Given the description of an element on the screen output the (x, y) to click on. 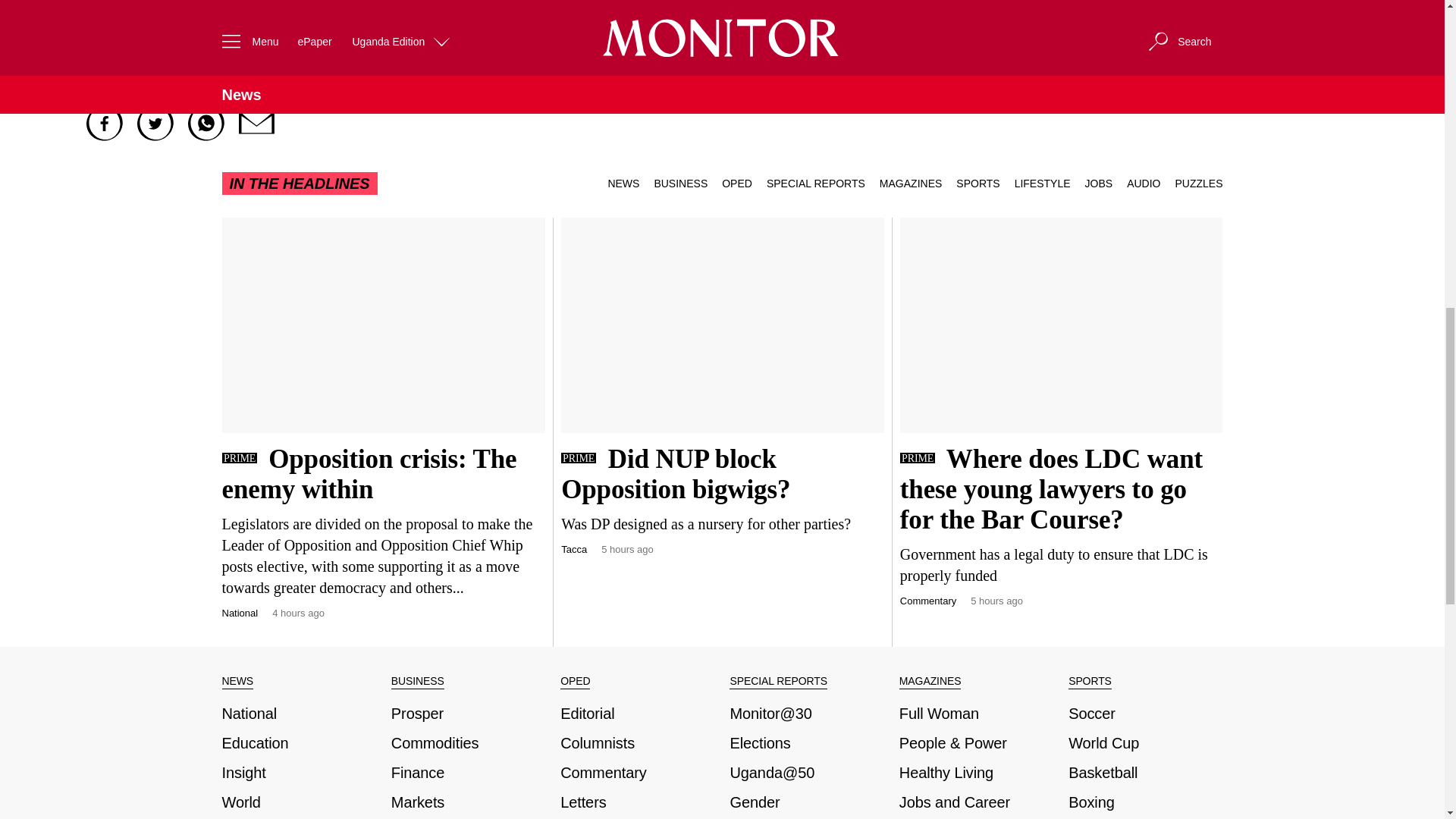
PRIME (916, 457)
PRIME (577, 457)
PRIME (238, 457)
